Given the description of an element on the screen output the (x, y) to click on. 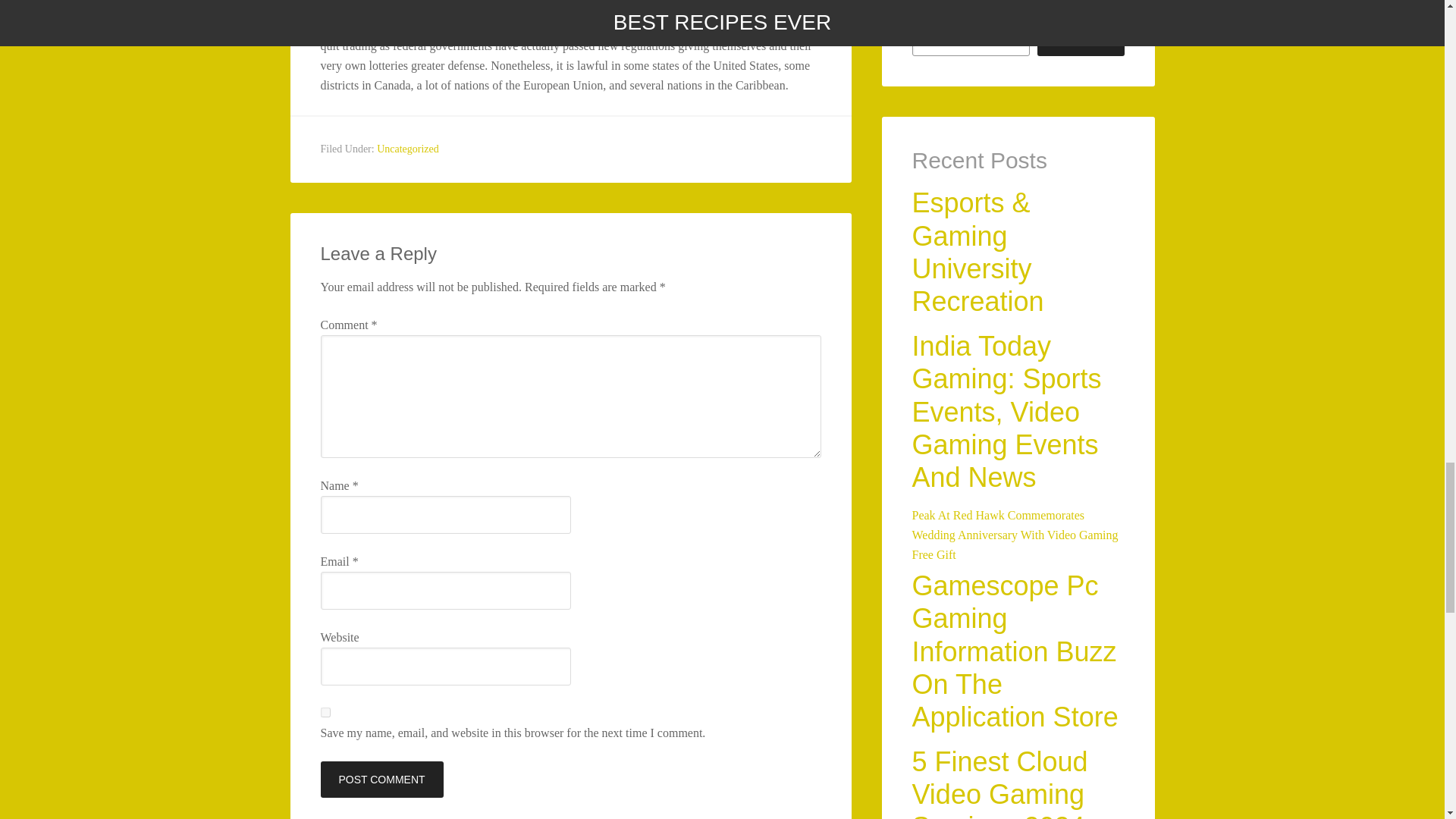
yes (325, 712)
Uncategorized (408, 148)
Post Comment (381, 779)
Post Comment (381, 779)
